Given the description of an element on the screen output the (x, y) to click on. 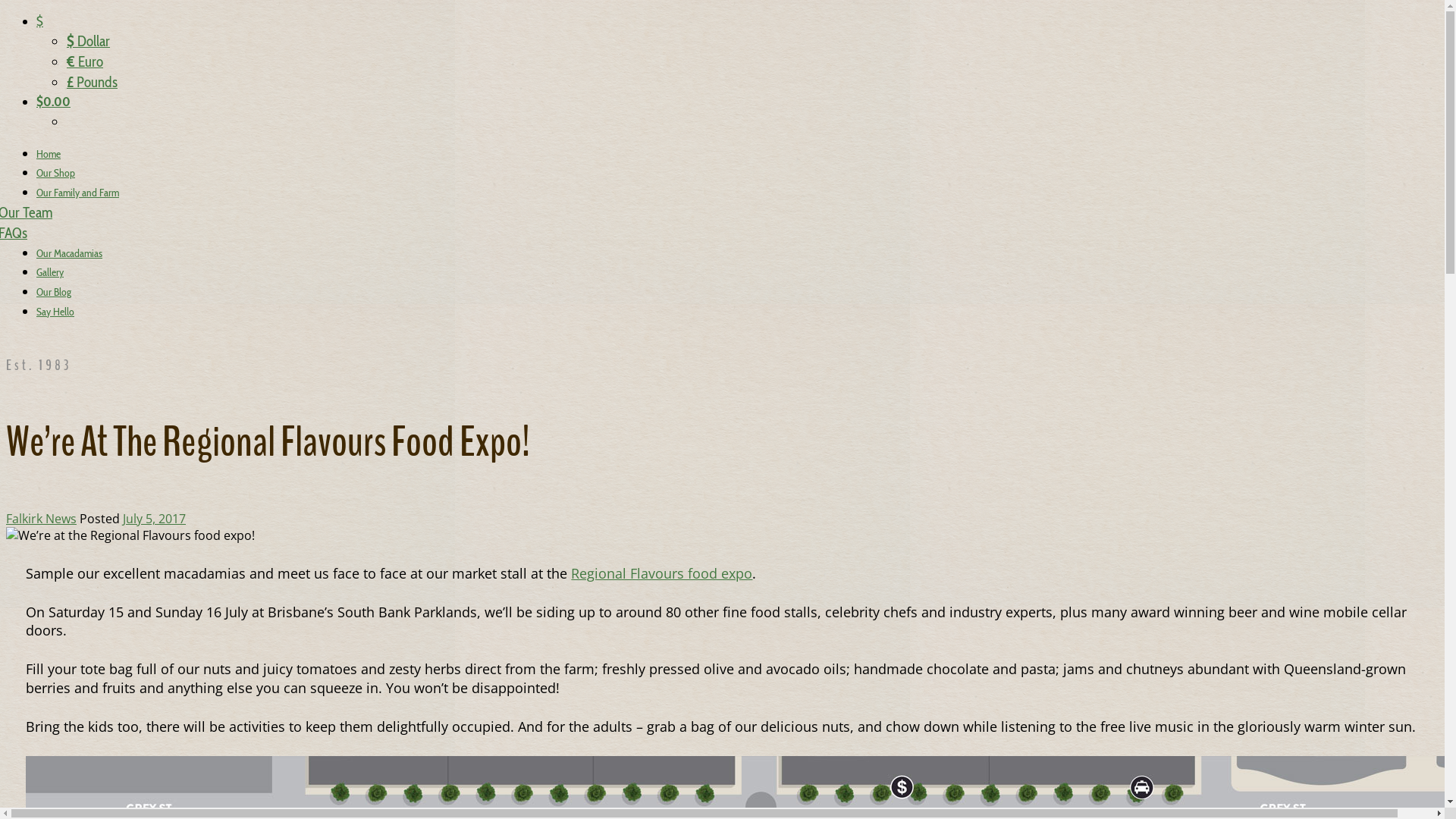
Say Hello Element type: text (55, 311)
Gallery Element type: text (49, 272)
Home Element type: text (48, 153)
$ Element type: text (39, 20)
Regional Flavours food expo Element type: text (661, 573)
Falkirk News Element type: text (41, 518)
Our Shop Element type: text (55, 172)
Our Blog Element type: text (53, 291)
Our Macadamias Element type: text (69, 253)
$0.00 Element type: text (53, 101)
July 5, 2017 Element type: text (153, 518)
$ Dollar Element type: text (87, 40)
Our Family and Farm Element type: text (77, 192)
